Given the description of an element on the screen output the (x, y) to click on. 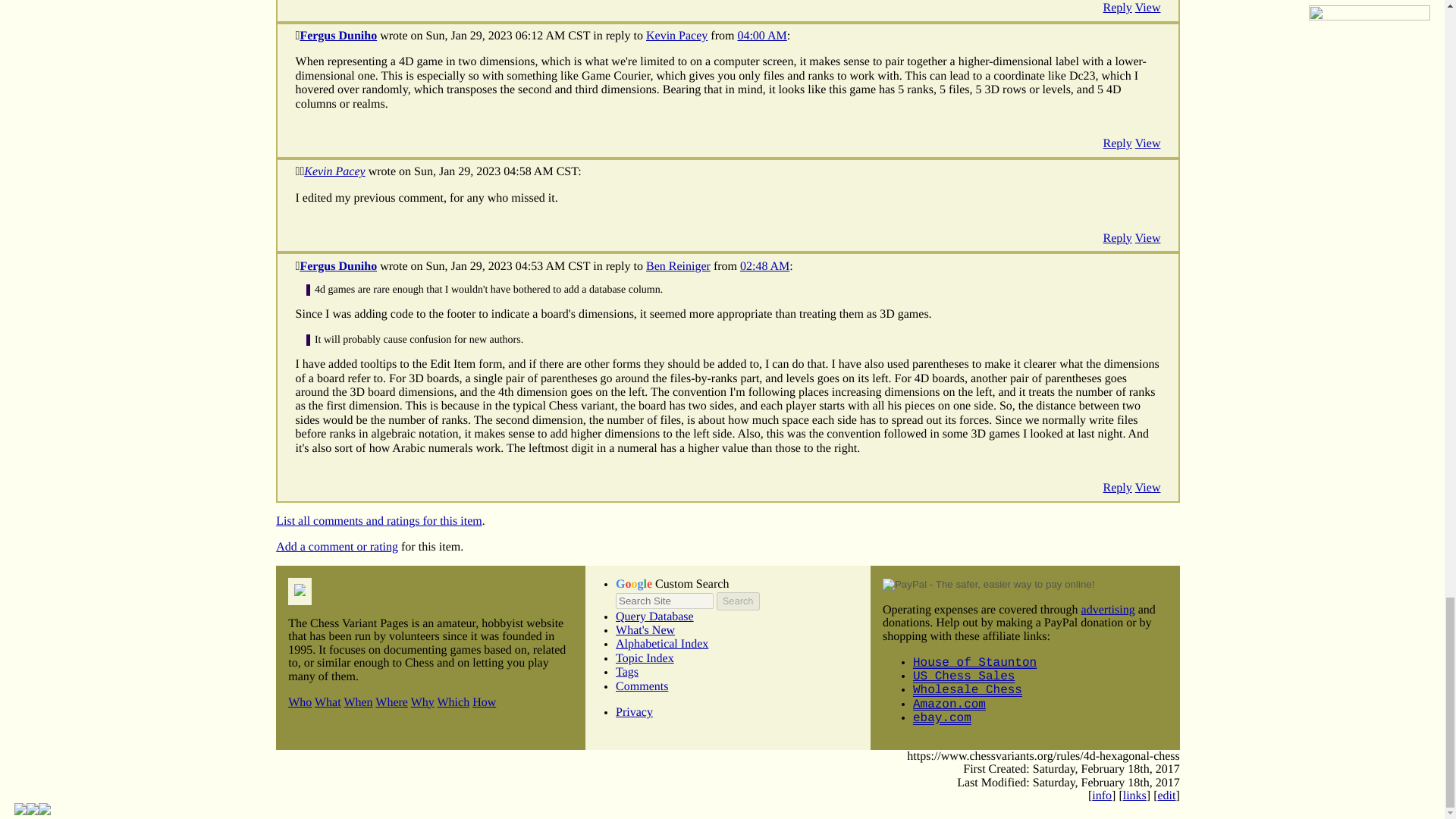
What is a Chess Variant? (327, 702)
Search (737, 601)
Who is behind the Chess Variant Pages? (299, 702)
When did Chess variants begin and get going? (357, 702)
